Given the description of an element on the screen output the (x, y) to click on. 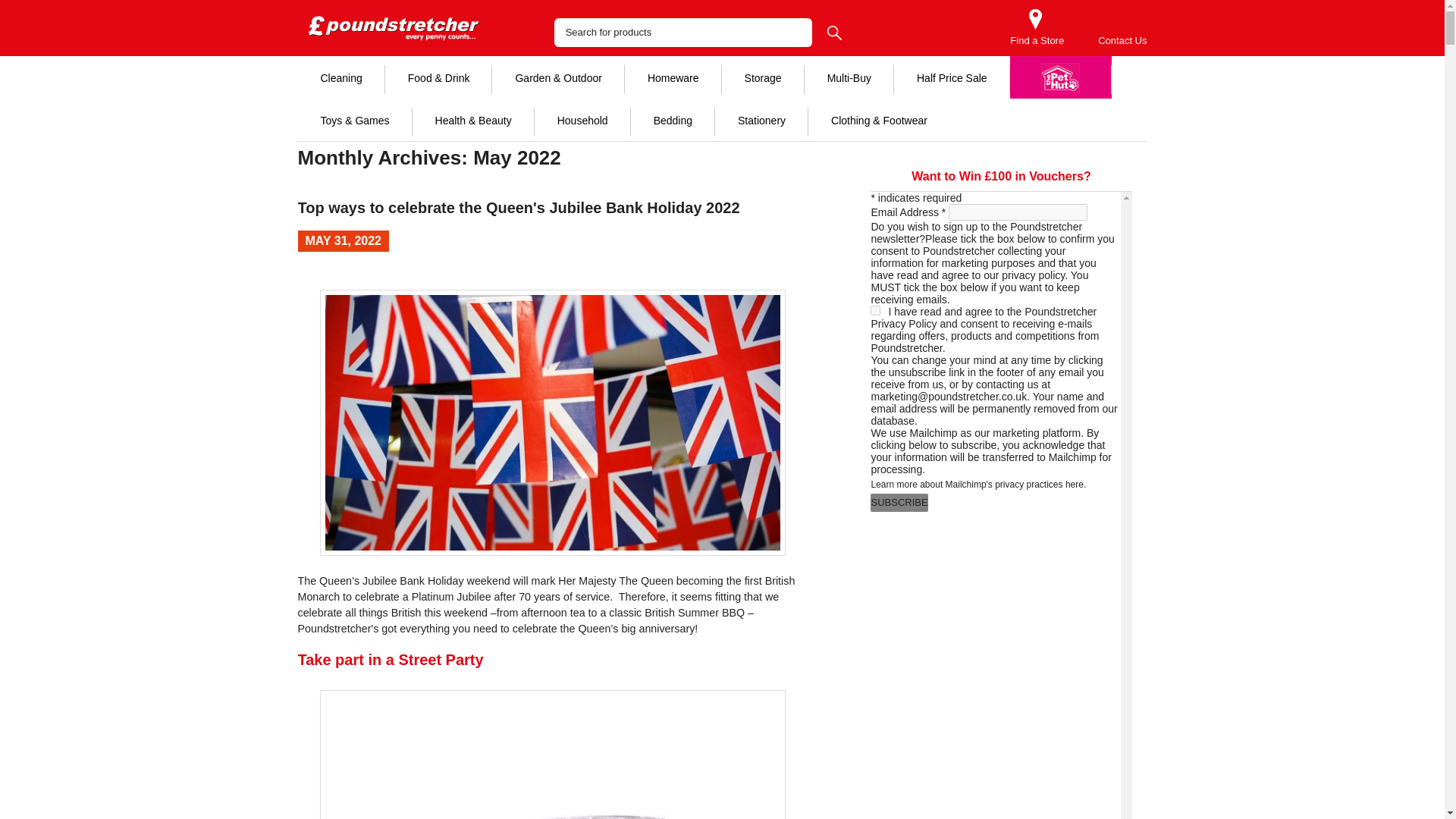
Home (370, 111)
Find a Store (1037, 41)
Contact Us (1122, 41)
Homeware (673, 77)
Subscribe (898, 502)
Search (833, 32)
SEARCH (833, 32)
Y (875, 310)
Find a Store (1037, 41)
Top ways to celebrate the Queen's Jubilee Bank Holiday 2022 (518, 207)
Poundstretcher (398, 28)
Cleaning (340, 77)
